Given the description of an element on the screen output the (x, y) to click on. 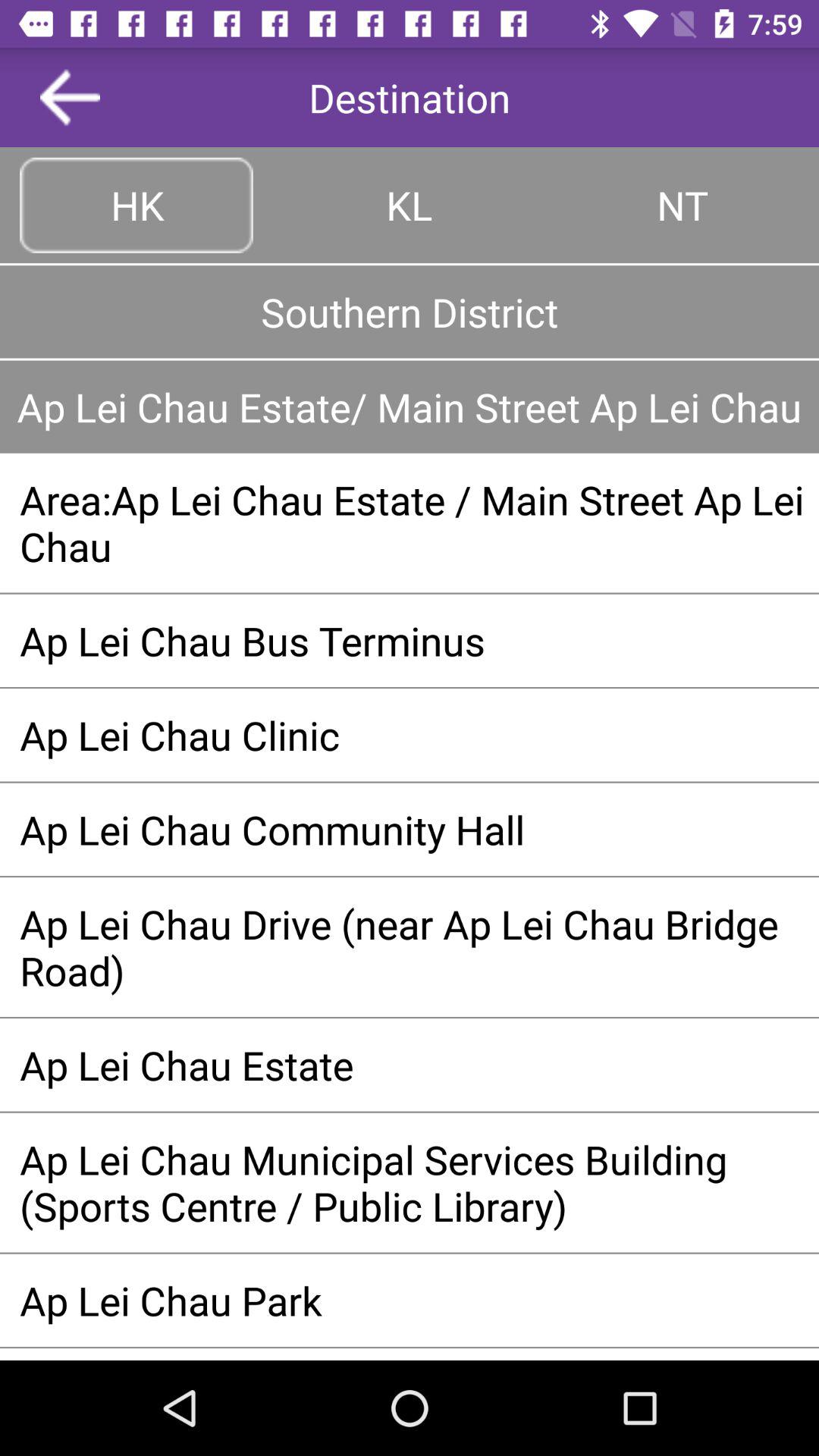
open the button to the left of the nt item (409, 205)
